Given the description of an element on the screen output the (x, y) to click on. 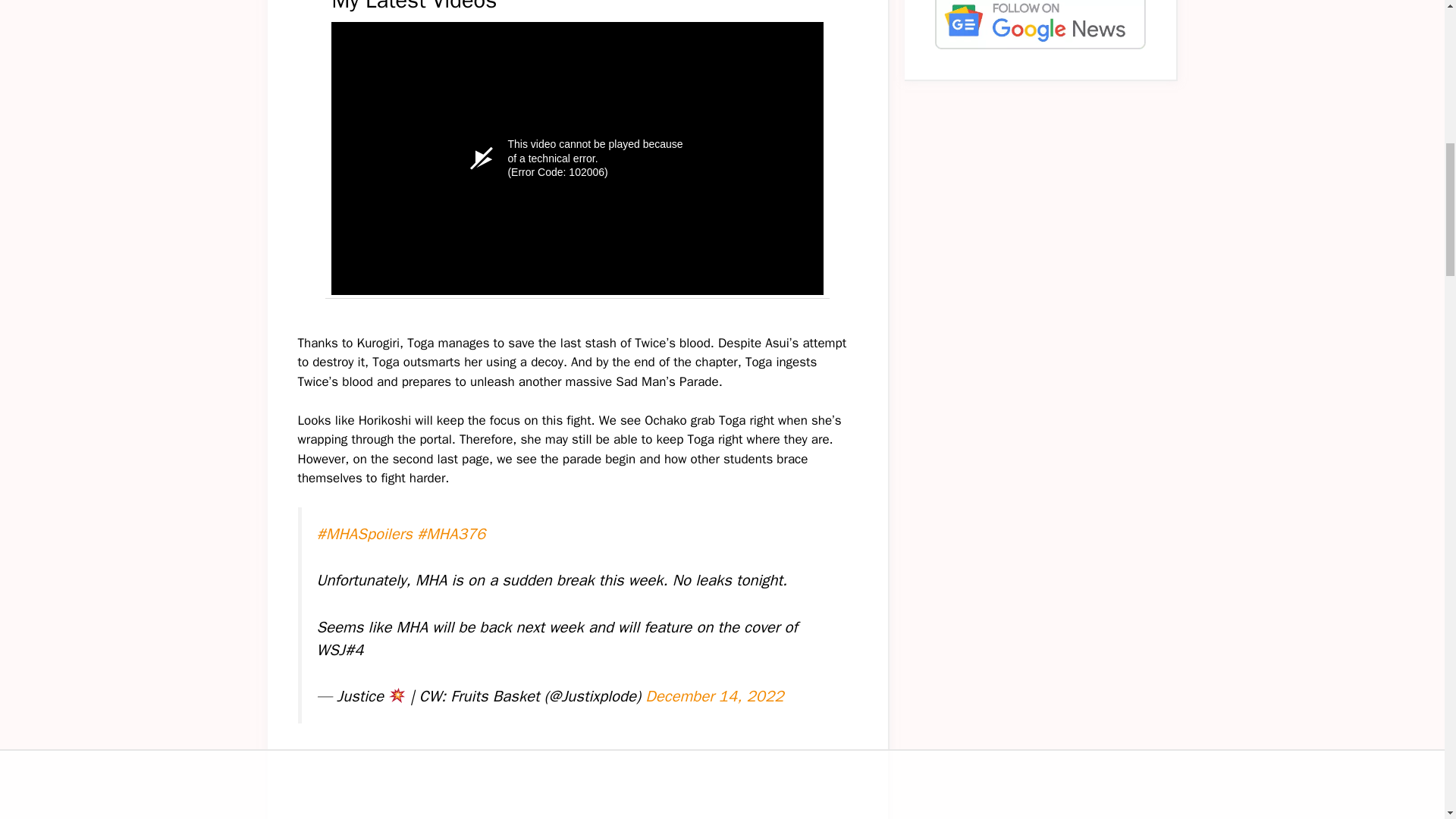
Scroll back to top (1406, 720)
December 14, 2022 (714, 695)
